Given the description of an element on the screen output the (x, y) to click on. 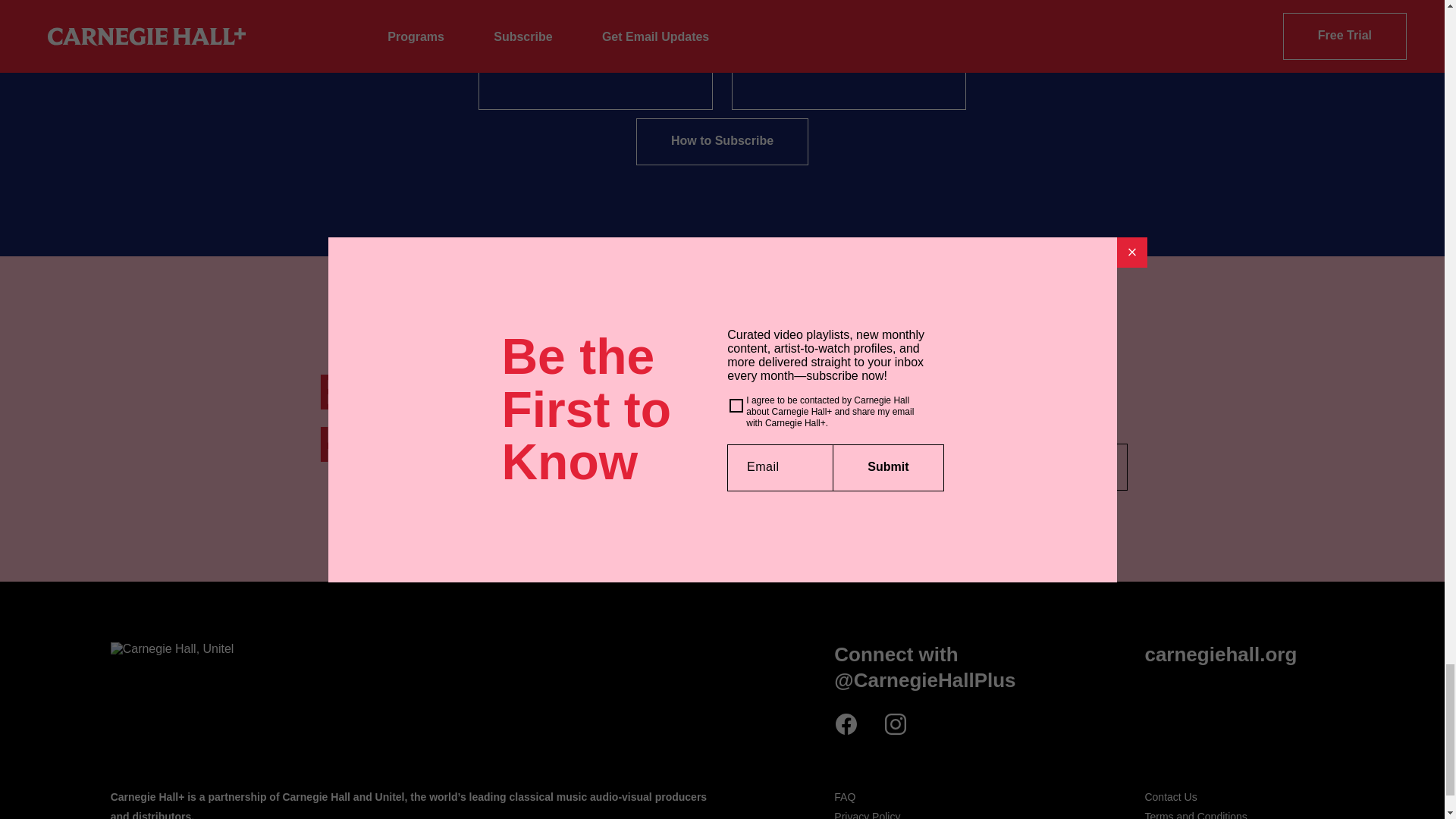
Submit (1071, 466)
How to Subscribe (722, 141)
Contact Us (1170, 797)
carnegiehall.org (1220, 653)
FAQ (845, 797)
